Given the description of an element on the screen output the (x, y) to click on. 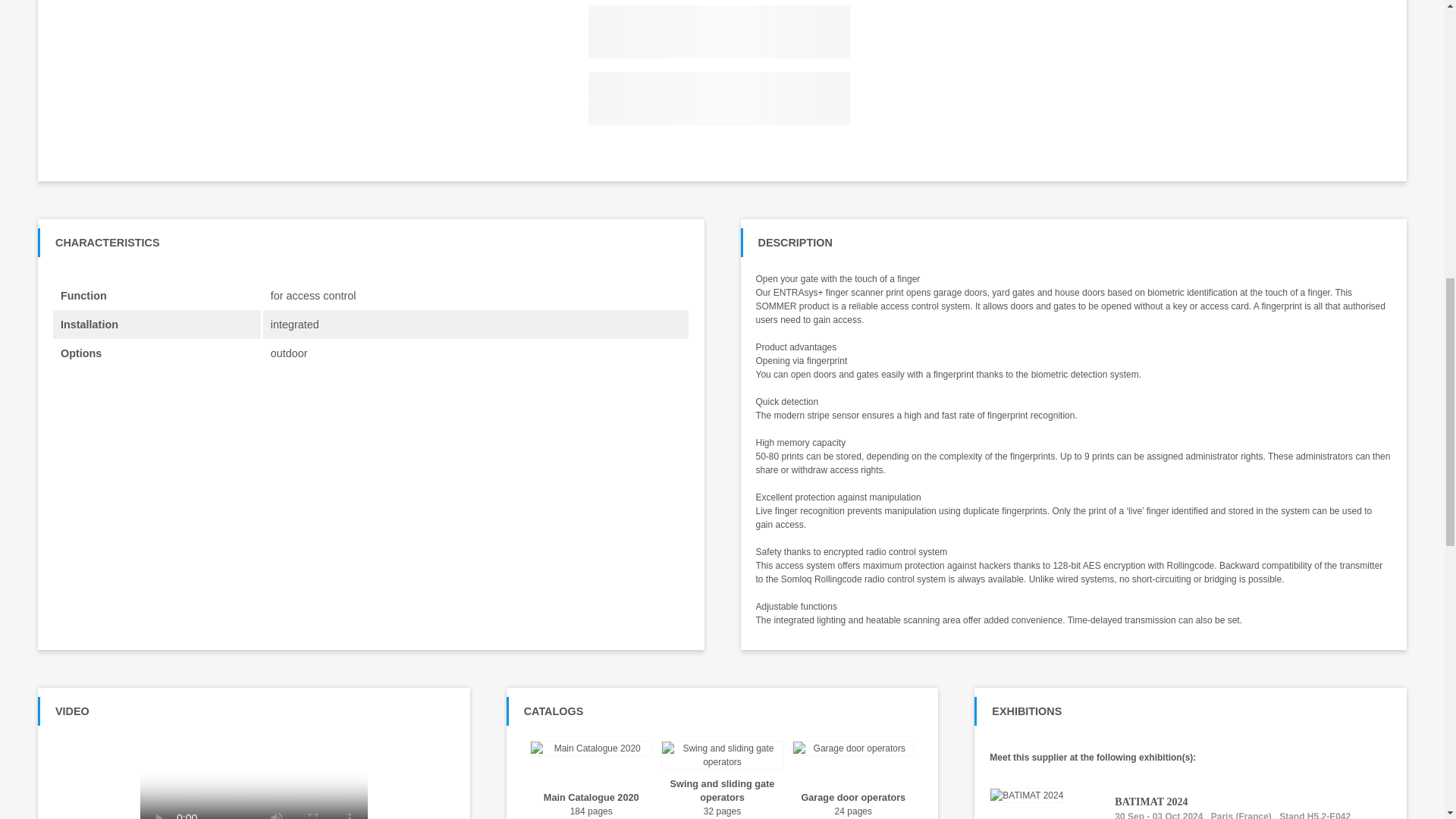
Swing and sliding gate operators (722, 790)
Main Catalogue 2020 (590, 797)
Garage door operators (853, 797)
